Given the description of an element on the screen output the (x, y) to click on. 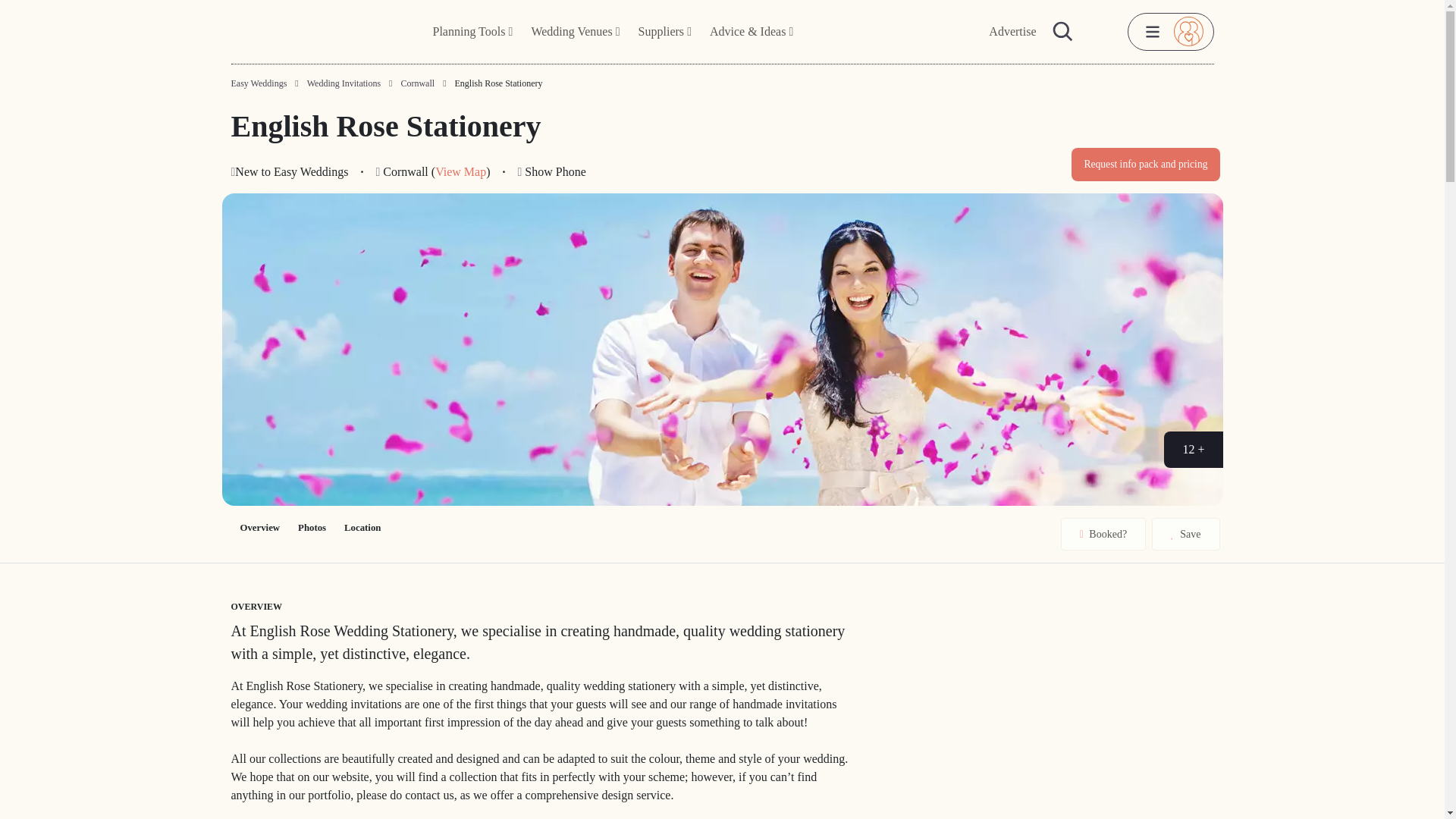
Suppliers (664, 31)
Cornwall (416, 82)
Save (1185, 533)
Photos (311, 528)
Booked? (1103, 533)
Planning Tools (472, 31)
Easy Weddings (258, 83)
Request info pack and pricing (1145, 164)
Wedding Invitations (343, 83)
Wedding Venues (575, 31)
